Given the description of an element on the screen output the (x, y) to click on. 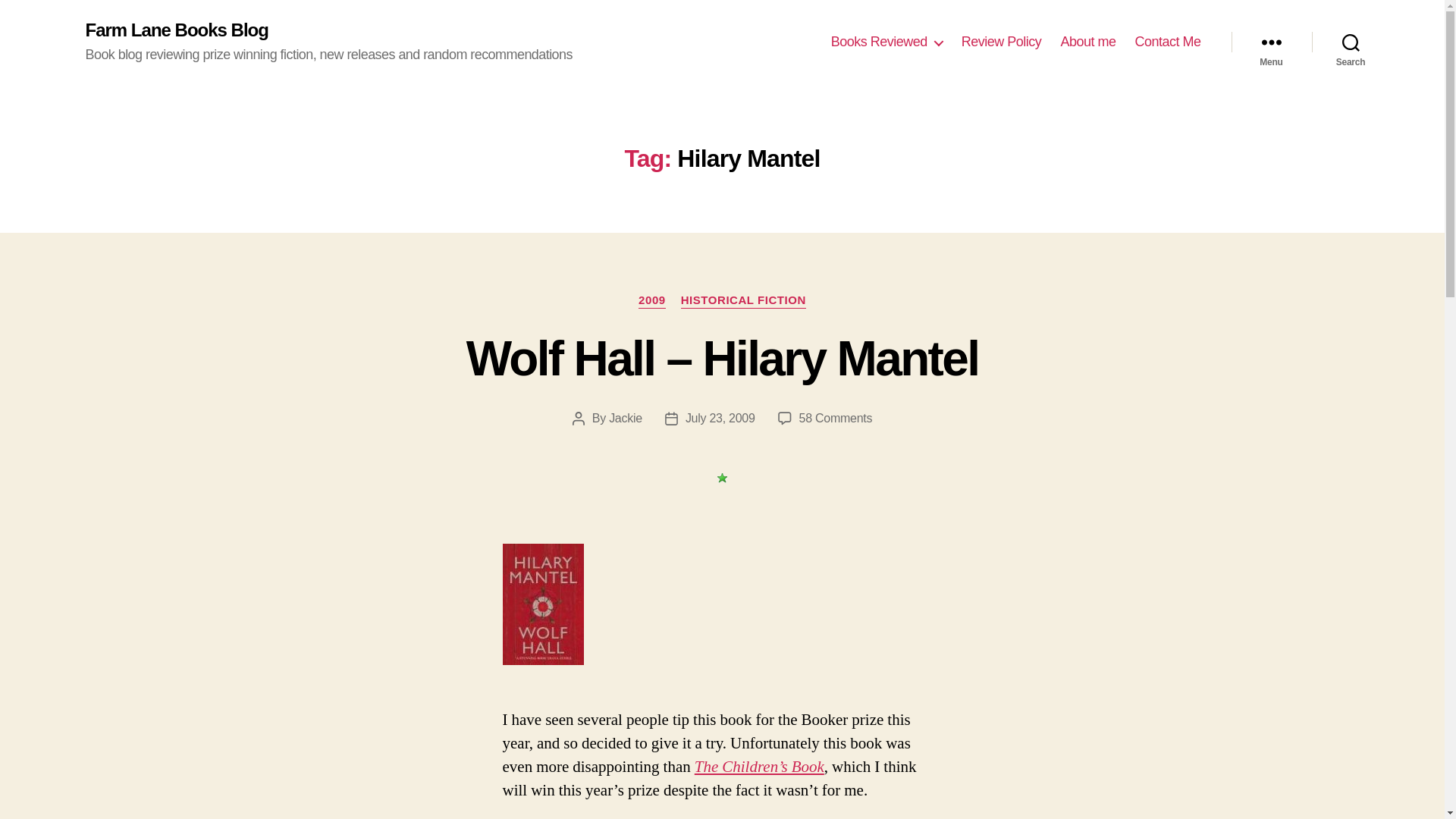
July 23, 2009 (720, 418)
Menu (1271, 41)
HISTORICAL FICTION (743, 300)
2009 (652, 300)
Books Reviewed (886, 42)
Review Policy (1001, 42)
Contact Me (1166, 42)
Farm Lane Books Blog (175, 30)
Search (1350, 41)
About me (1087, 42)
